Given the description of an element on the screen output the (x, y) to click on. 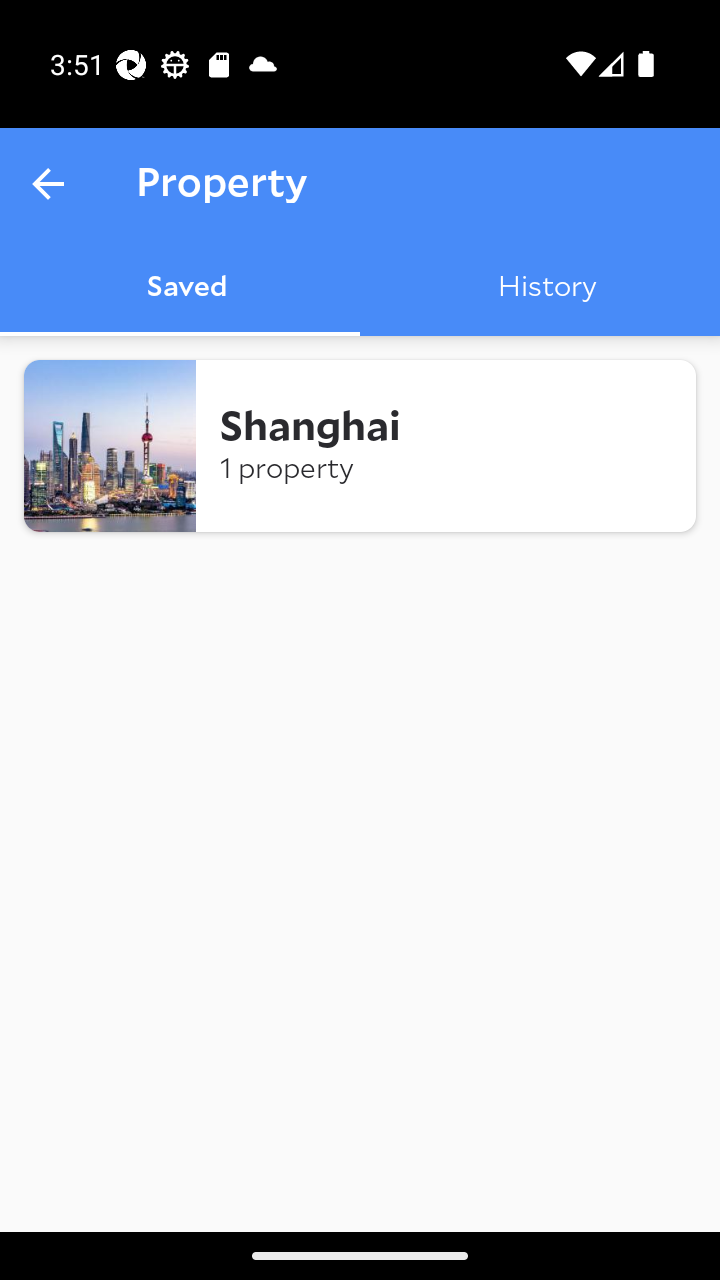
History (540, 287)
Shanghai 1 property (360, 445)
